Given the description of an element on the screen output the (x, y) to click on. 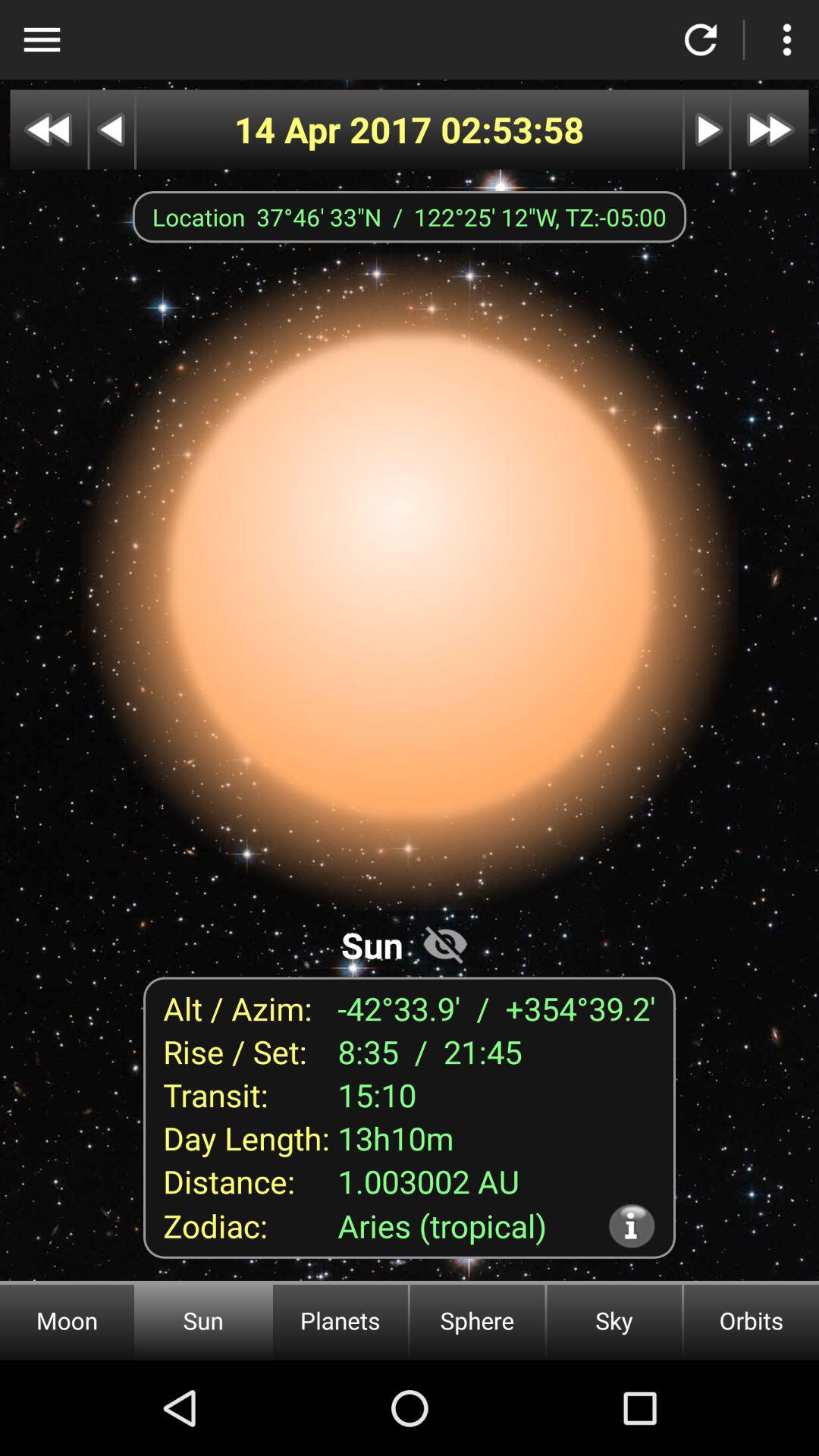
go to next date (769, 129)
